Given the description of an element on the screen output the (x, y) to click on. 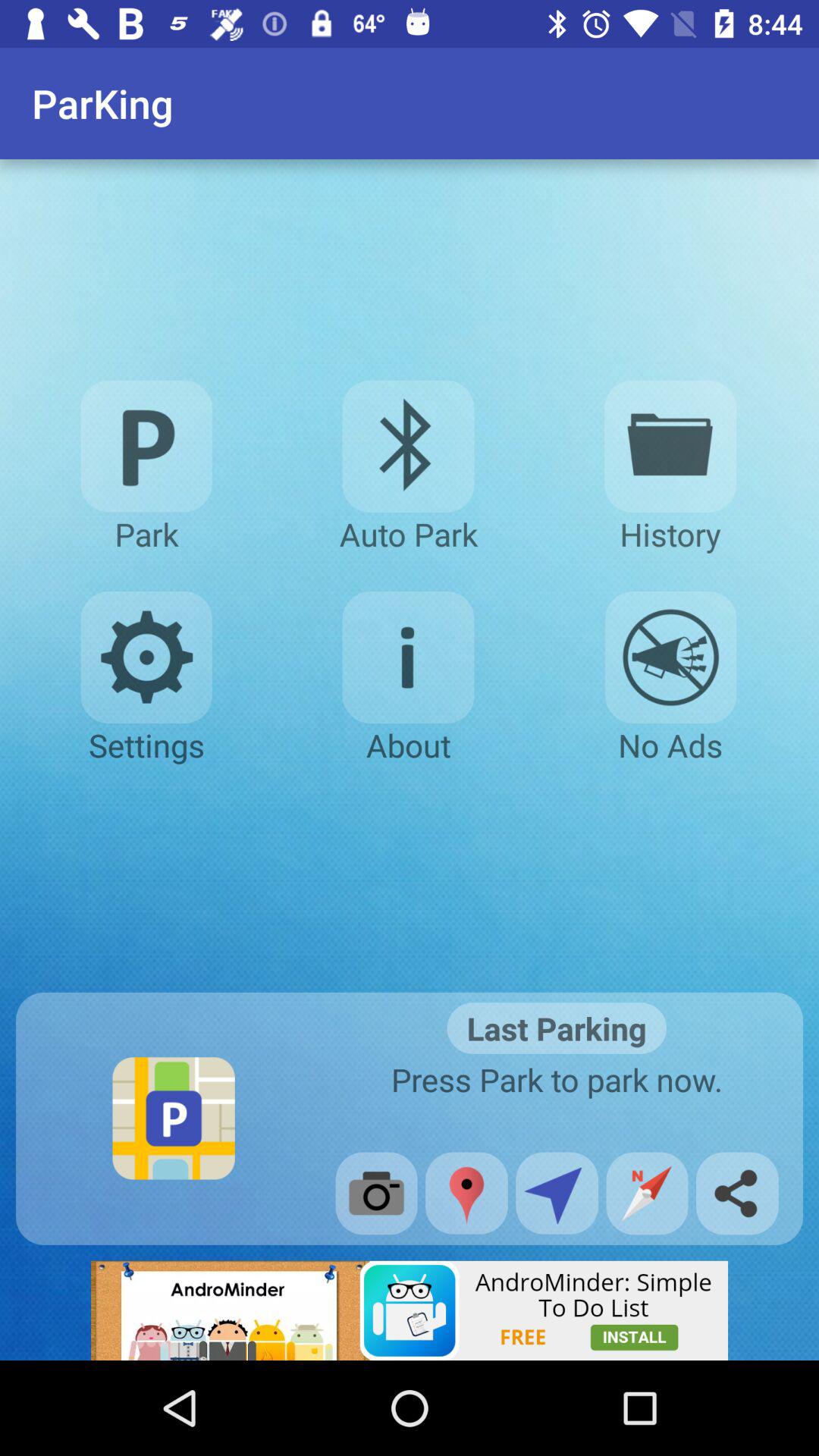
toggle to camera option (376, 1193)
